Given the description of an element on the screen output the (x, y) to click on. 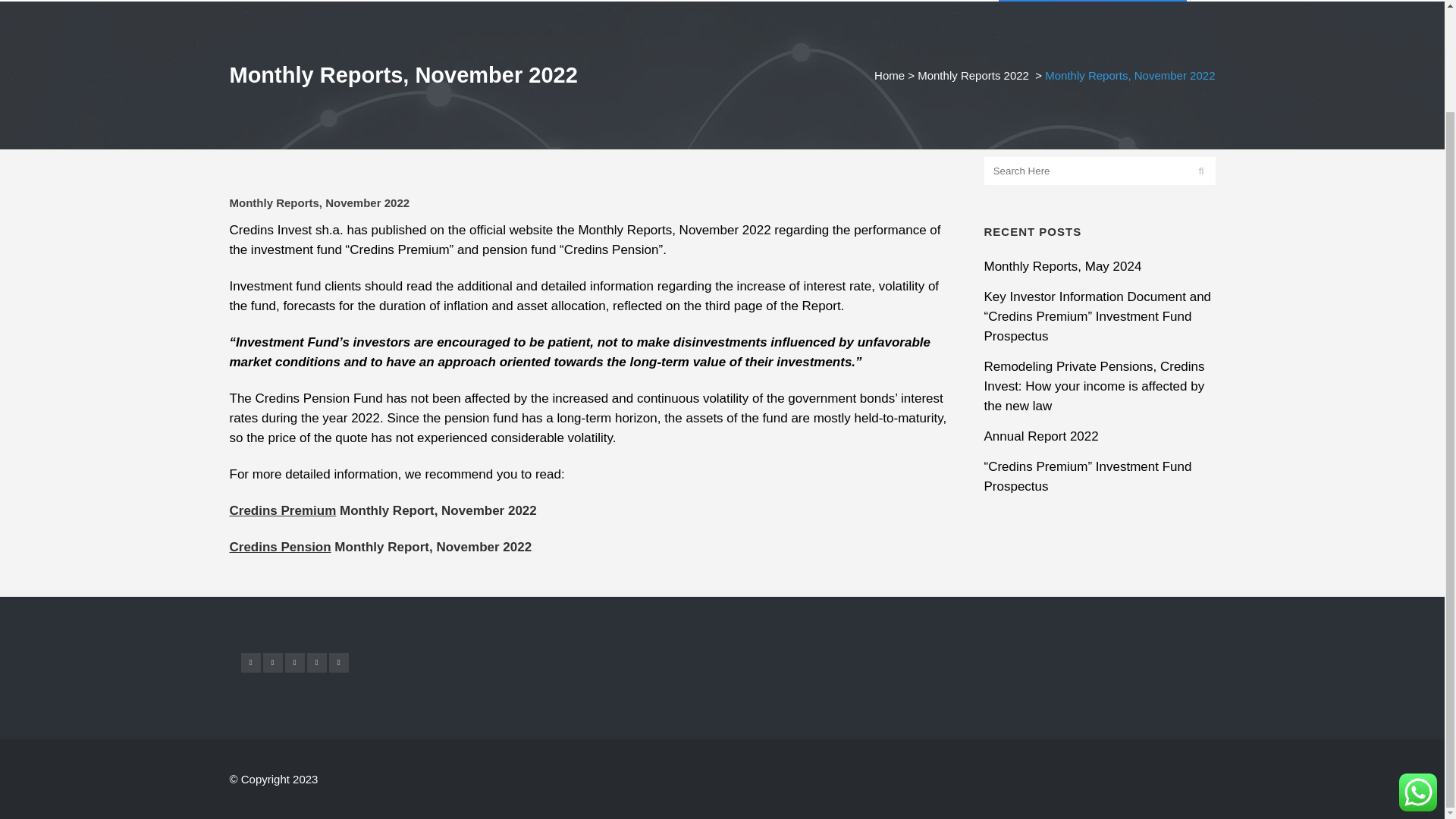
ABOUT US (306, 0)
INVESTMENT FUNDS (618, 0)
PENSION FUND (511, 0)
LEGAL FRAMEWORK (403, 0)
HOME (248, 0)
